Given the description of an element on the screen output the (x, y) to click on. 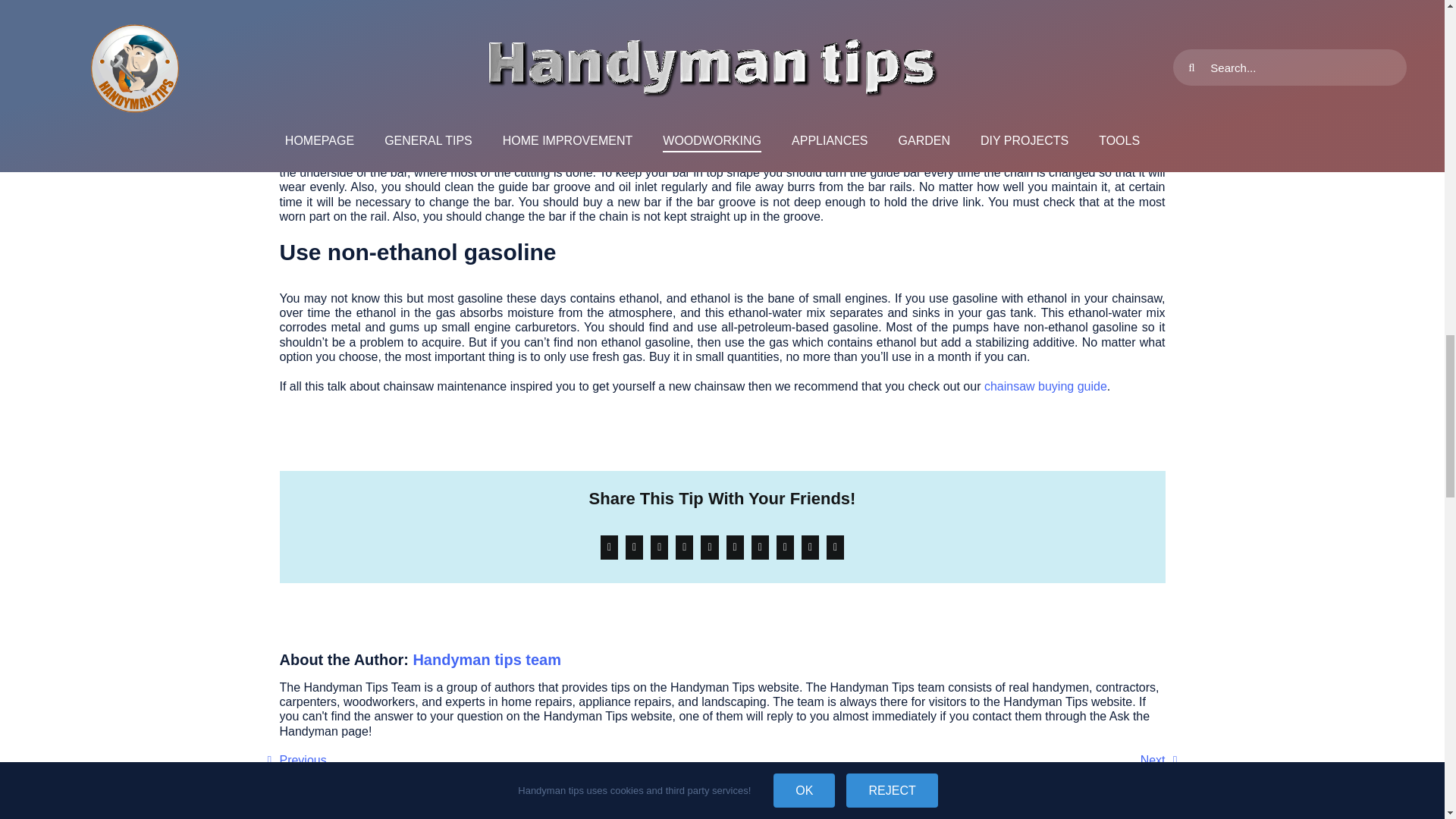
Previous (296, 760)
chainsaw buying guide (1045, 386)
Next (1158, 760)
Handyman tips team (486, 659)
